Given the description of an element on the screen output the (x, y) to click on. 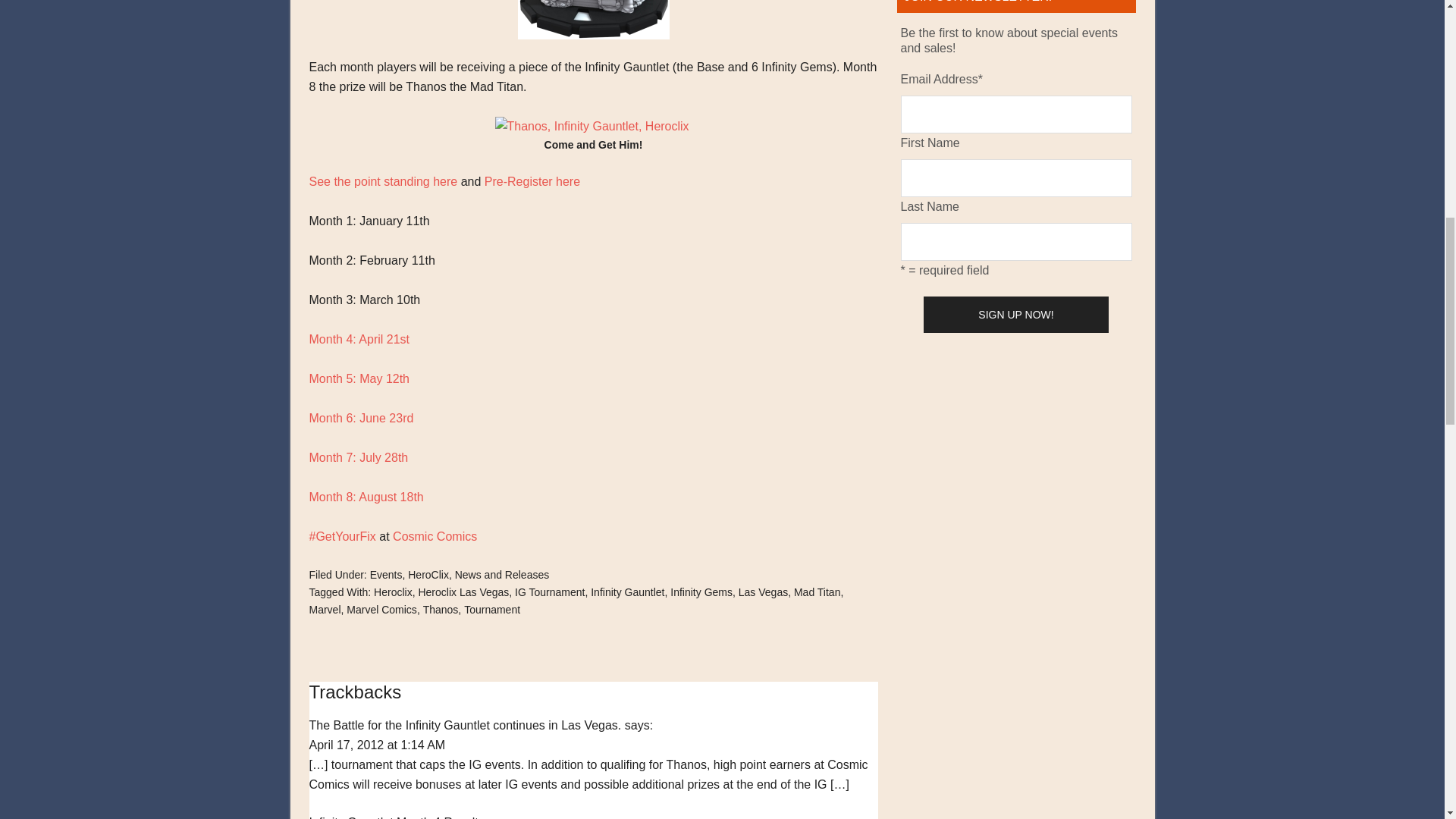
Ensure you get your object and points by Pre-Registering  (531, 181)
ThanosIG (591, 126)
Cosmic Comics (435, 535)
Infinity Gauntlet Month 4 is Here! (359, 338)
Points so far for the IG Tournament (383, 181)
Infinity Gauntlet Month 7 (358, 457)
Infinity Gauntlet Month 5 (359, 378)
Sign Up Now! (1015, 314)
Follow us on Twitter (341, 535)
See the point standing here (383, 181)
